Given the description of an element on the screen output the (x, y) to click on. 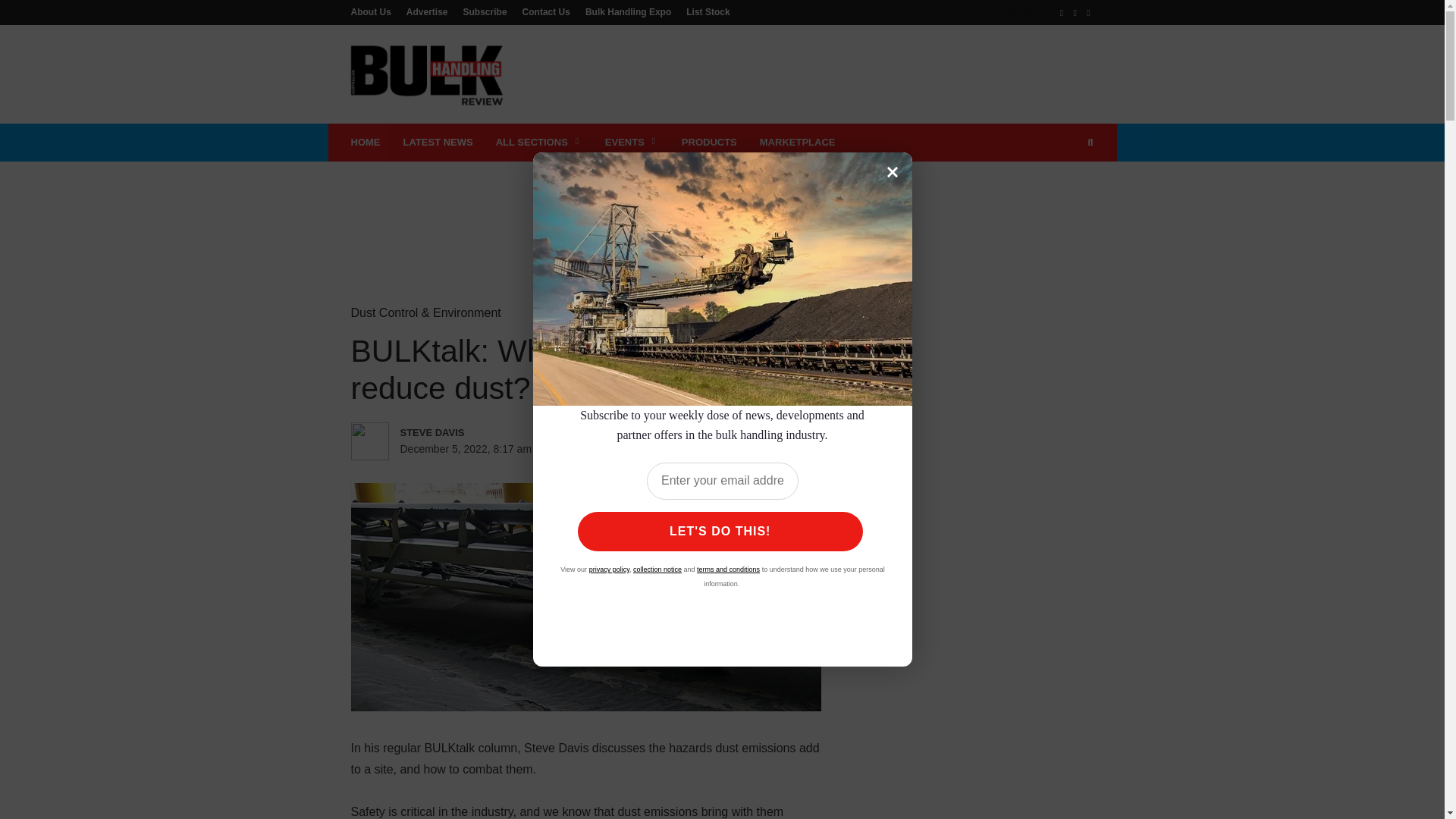
Bulk Handling Expo (628, 11)
Share on LinkedIn (665, 449)
LATEST NEWS (437, 142)
Contact Us (546, 11)
Advertise (426, 11)
Subscribe (485, 11)
List Stock (703, 11)
About Us (373, 11)
Newsletter (1021, 11)
3rd party ad content (817, 74)
ALL SECTIONS (539, 142)
Share on Facebook (604, 449)
Share on Copy Link (759, 449)
3rd party ad content (721, 210)
Share on Print (697, 449)
